Given the description of an element on the screen output the (x, y) to click on. 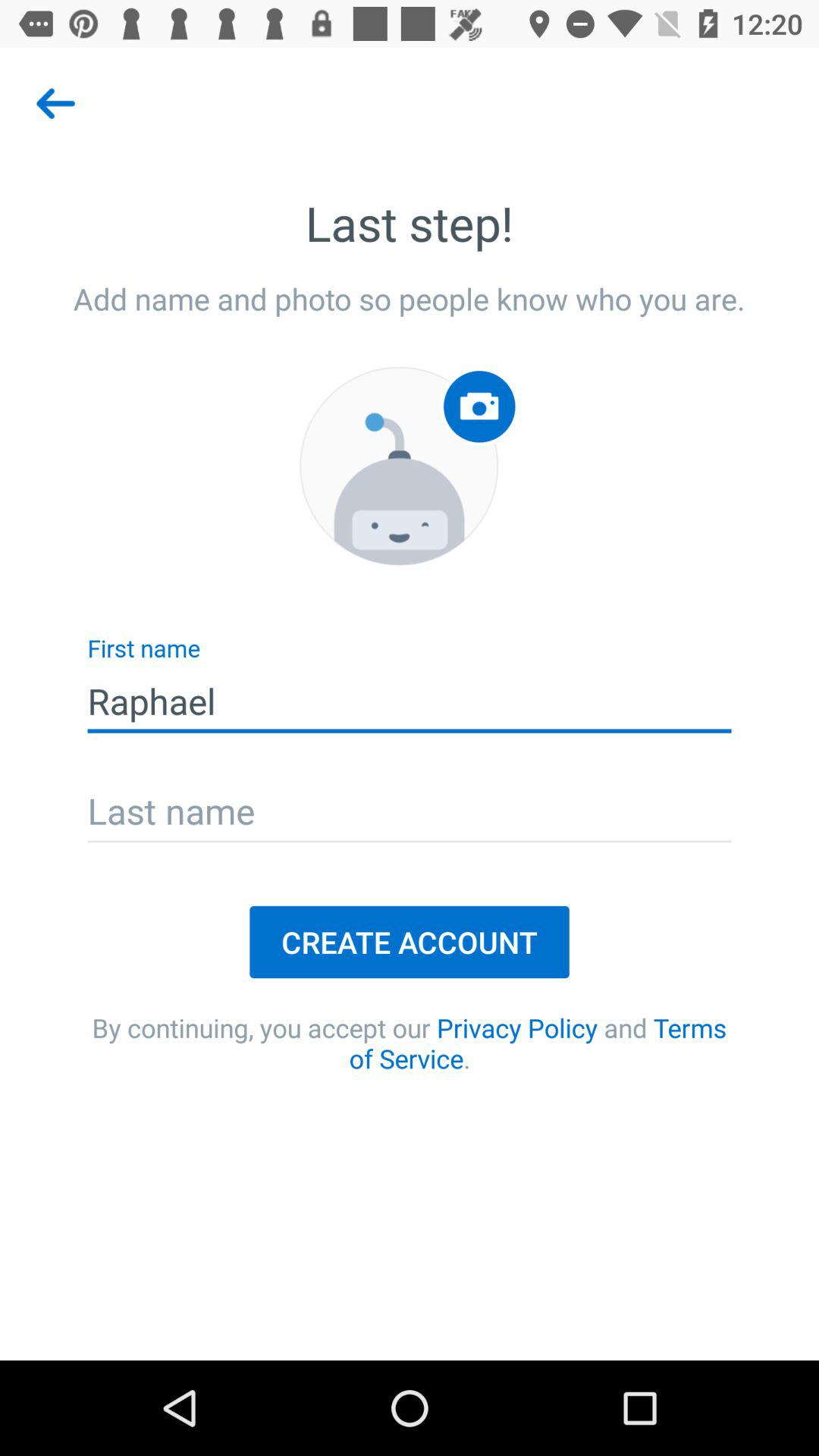
jump until by continuing you item (409, 1043)
